Given the description of an element on the screen output the (x, y) to click on. 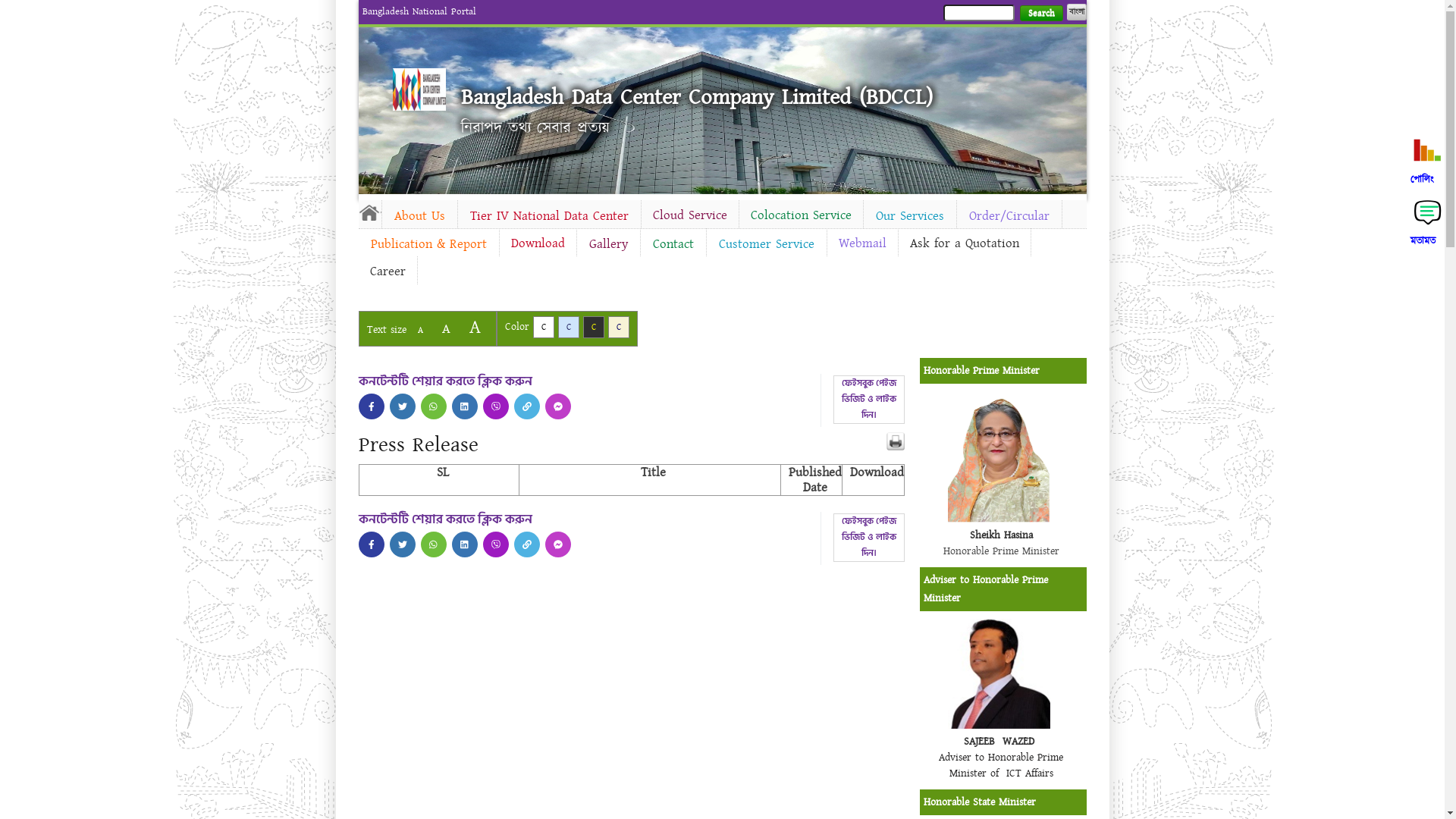
Home Element type: hover (368, 211)
C Element type: text (568, 327)
C Element type: text (592, 327)
Gallery Element type: text (607, 244)
Cloud Service Element type: text (689, 215)
Tier IV National Data Center Element type: text (549, 216)
Ask for a Quotation Element type: text (963, 243)
About Us Element type: text (419, 216)
Career Element type: text (386, 271)
Webmail Element type: text (861, 243)
Search Element type: text (1040, 13)
Order/Circular Element type: text (1009, 216)
Home Element type: hover (418, 89)
Bangladesh National Portal Element type: text (419, 11)
Contact Element type: text (672, 244)
Colocation Service Element type: text (800, 215)
Publication & Report Element type: text (427, 244)
A Element type: text (474, 327)
A Element type: text (419, 330)
Our Services Element type: text (908, 216)
C Element type: text (618, 327)
A Element type: text (445, 328)
C Element type: text (542, 327)
Download Element type: text (536, 243)
Bangladesh Data Center Company Limited (BDCCL) Element type: text (696, 96)
Customer Service Element type: text (766, 244)
